Given the description of an element on the screen output the (x, y) to click on. 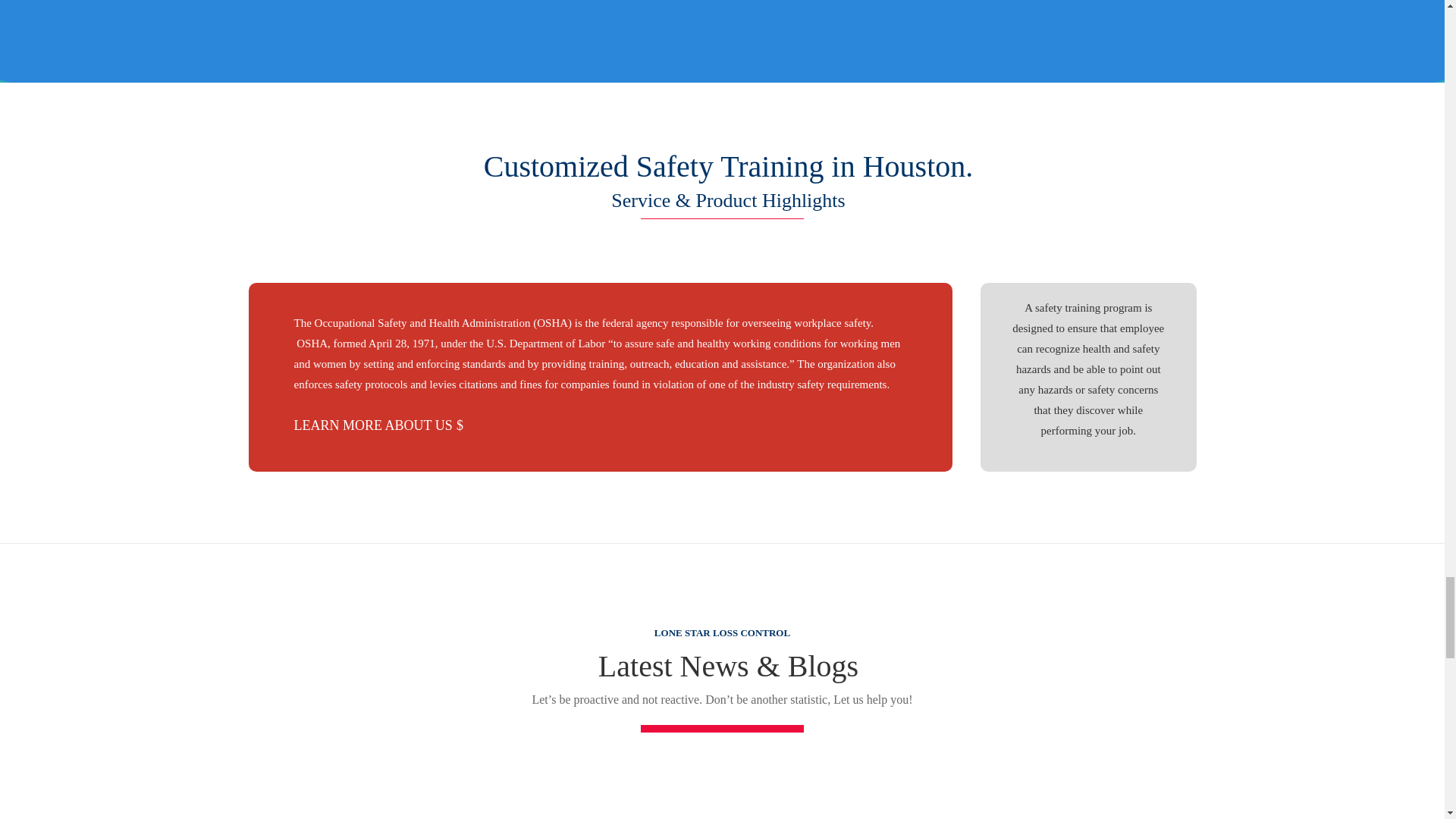
 OSHA, (312, 343)
LEARN MORE ABOUT US (387, 425)
fines (530, 384)
